Given the description of an element on the screen output the (x, y) to click on. 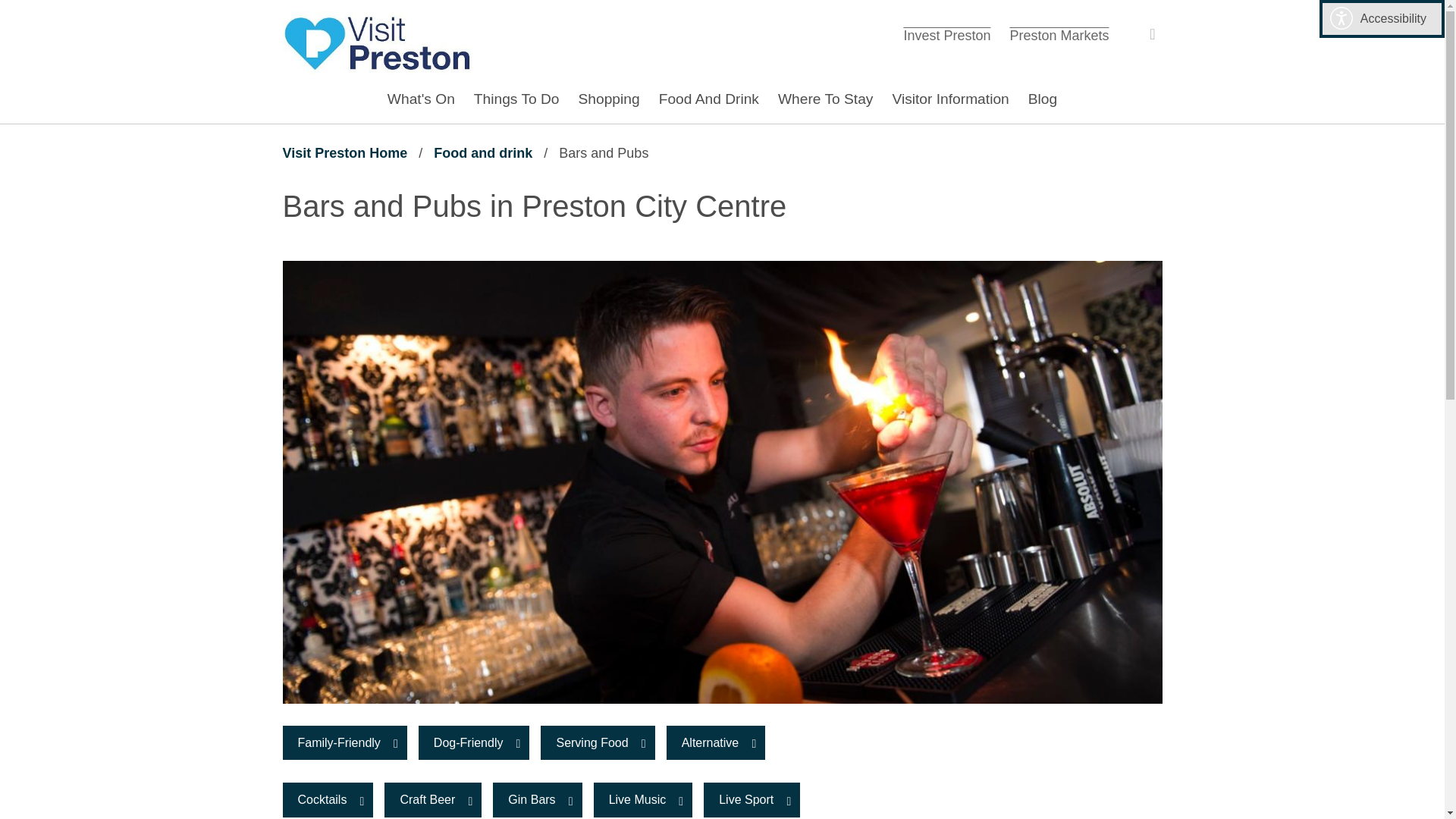
Search this website (1147, 34)
Cocktails (327, 799)
Food and drink (482, 153)
Preston Markets (1058, 34)
Invest Preston (376, 42)
Dog-Friendly (946, 34)
Serving Food (474, 742)
Craft Beer (596, 742)
Skip to main content (432, 799)
Gin Bars (11, 11)
Visit Preston Home (536, 799)
Visitor Information (344, 153)
Live Sport (949, 98)
Family-Friendly (751, 799)
